Given the description of an element on the screen output the (x, y) to click on. 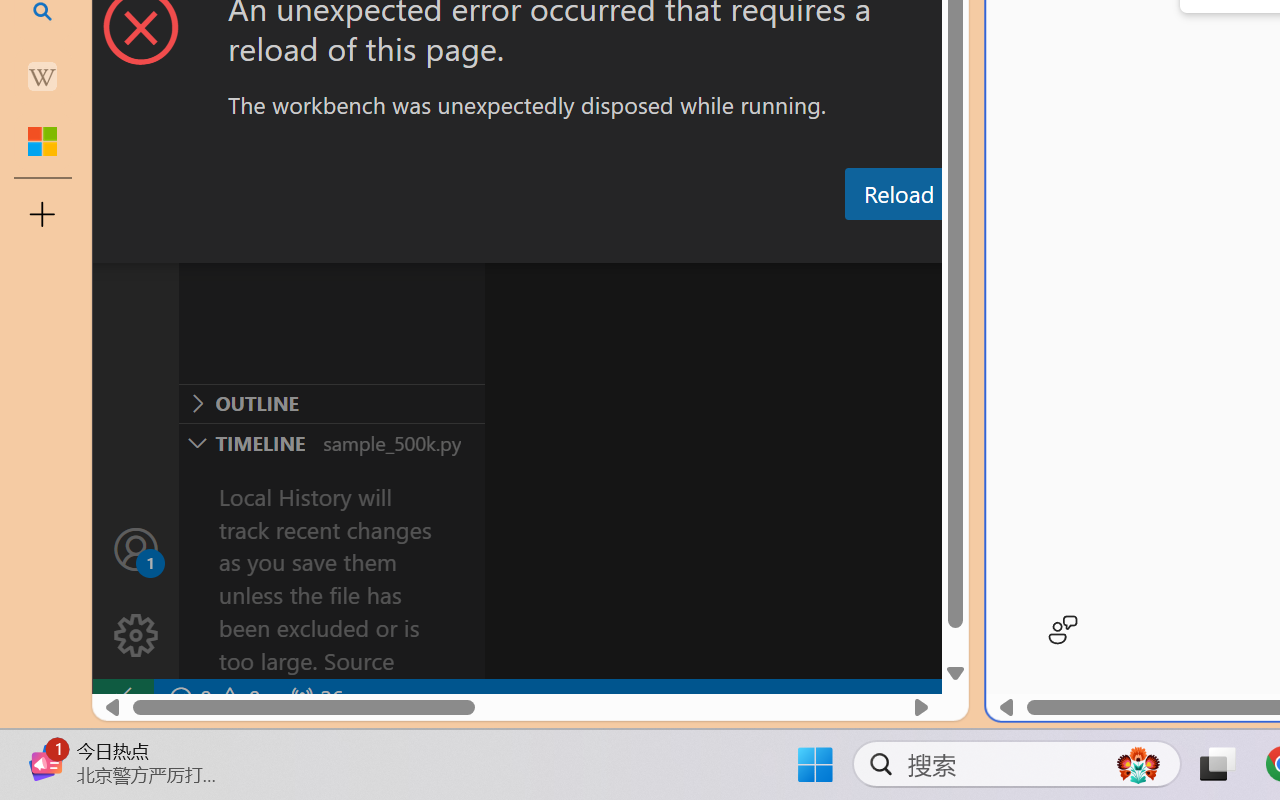
Outline Section (331, 403)
Terminal (Ctrl+`) (1021, 243)
Debug Console (Ctrl+Shift+Y) (854, 243)
Accounts - Sign in requested (135, 548)
Reload (898, 193)
Timeline Section (331, 442)
No Problems (212, 698)
Output (Ctrl+Shift+U) (696, 243)
